Given the description of an element on the screen output the (x, y) to click on. 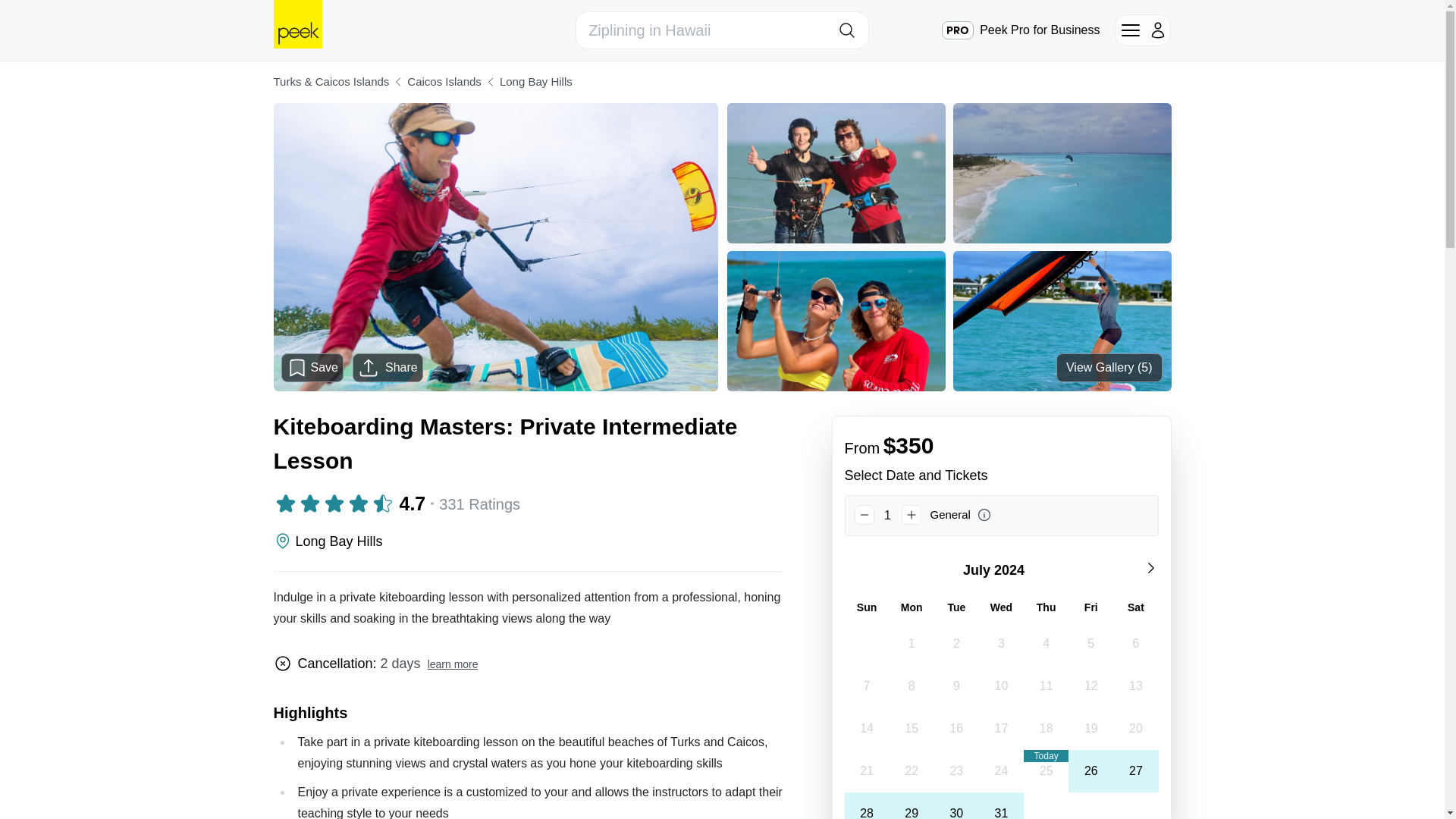
Save (311, 367)
Share (387, 367)
Long Bay Hills (535, 81)
Peek Pro for Business (1020, 29)
learn more (453, 664)
Kiteboarding Masters: Private Intermediate Lesson (528, 443)
Caicos Islands (444, 81)
